Given the description of an element on the screen output the (x, y) to click on. 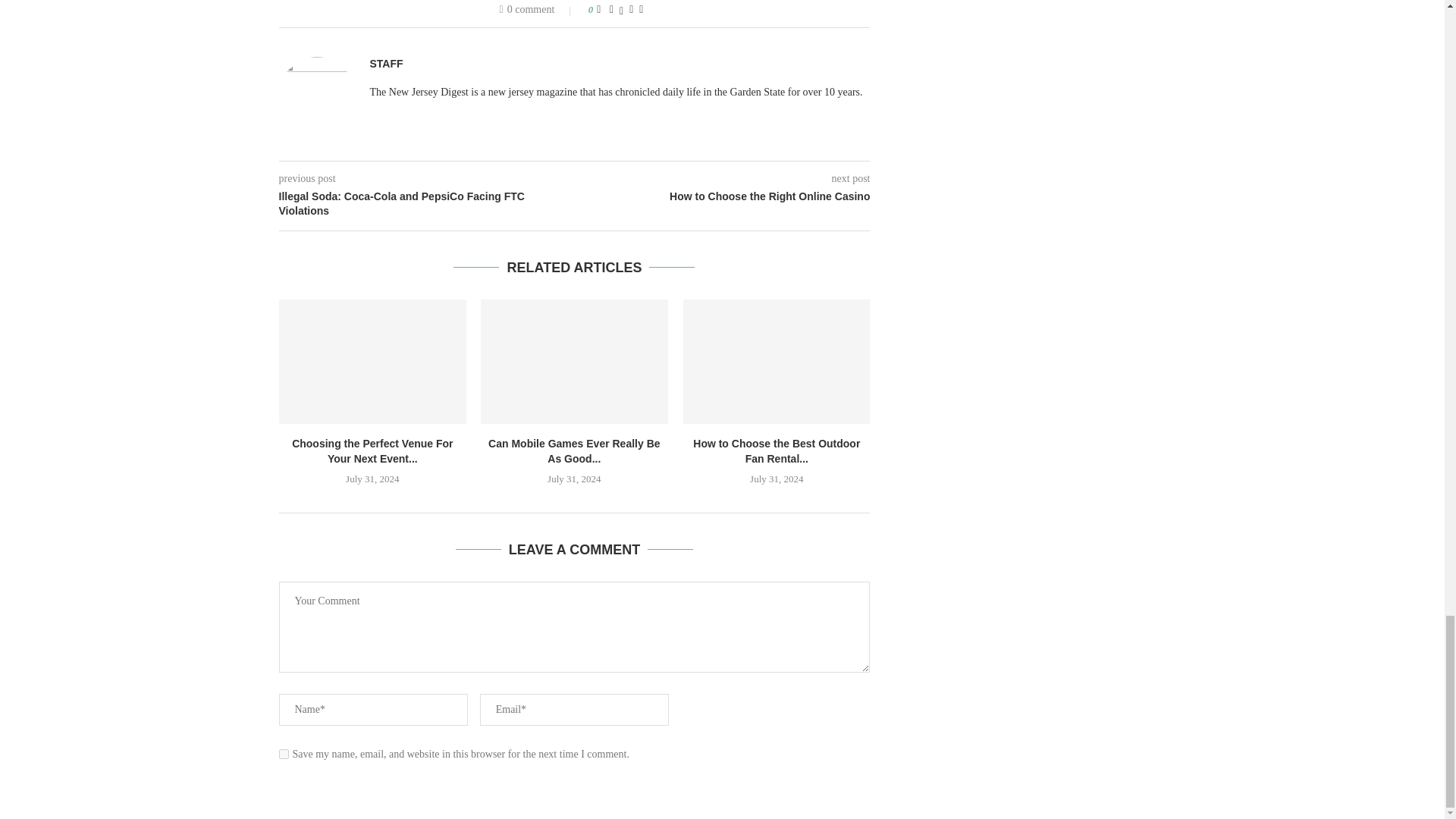
Can Mobile Games Ever Really Be As Good As Video Games? (574, 361)
yes (283, 754)
Choosing the Perfect Venue For Your Next Event in Chicago (372, 361)
How to Choose the Best Outdoor Fan Rental for Your Event (776, 361)
Author Staff (386, 63)
